Given the description of an element on the screen output the (x, y) to click on. 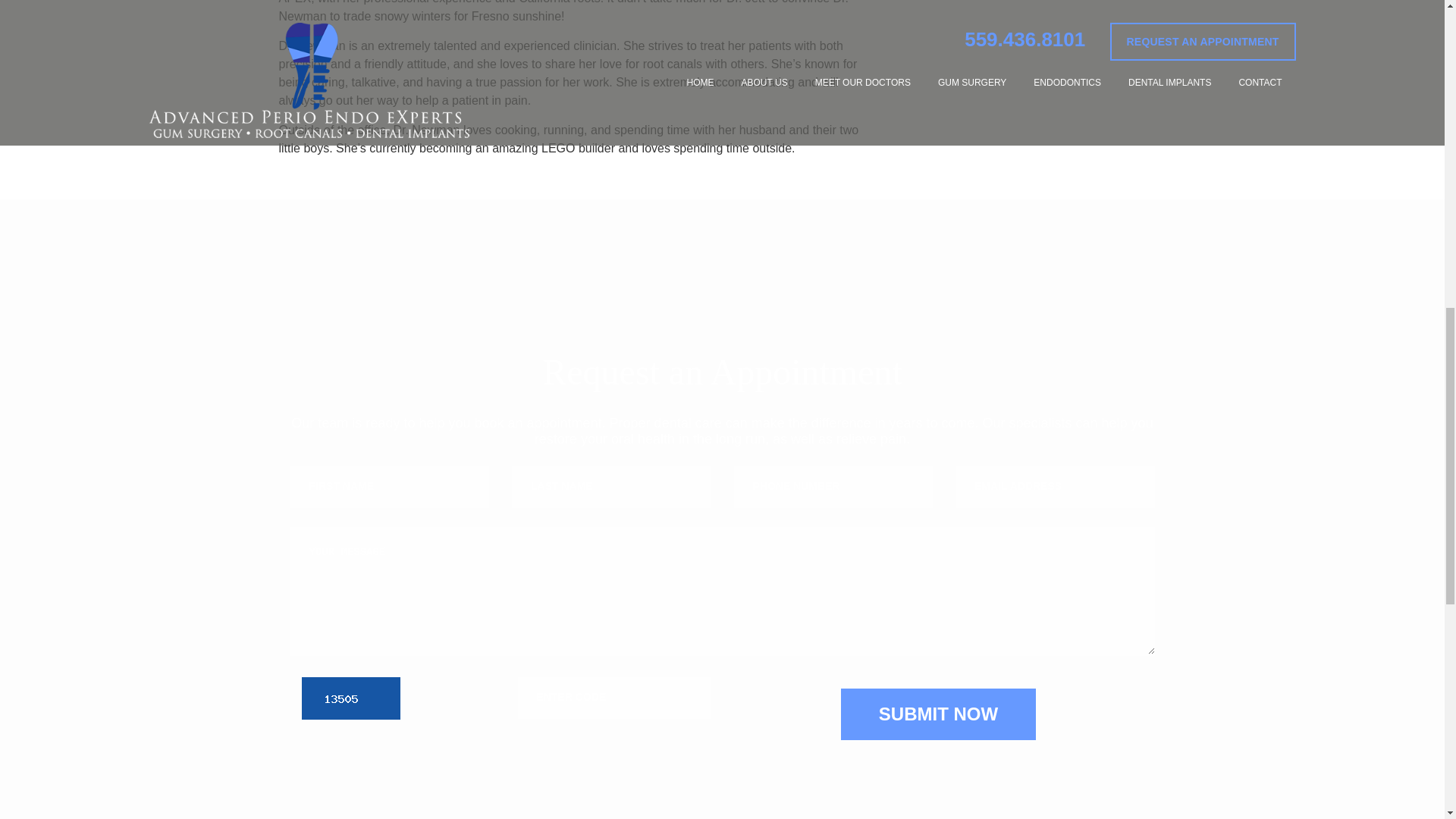
Submit Now (938, 714)
Submit Now (938, 714)
Invalid Email Address (1054, 486)
